Given the description of an element on the screen output the (x, y) to click on. 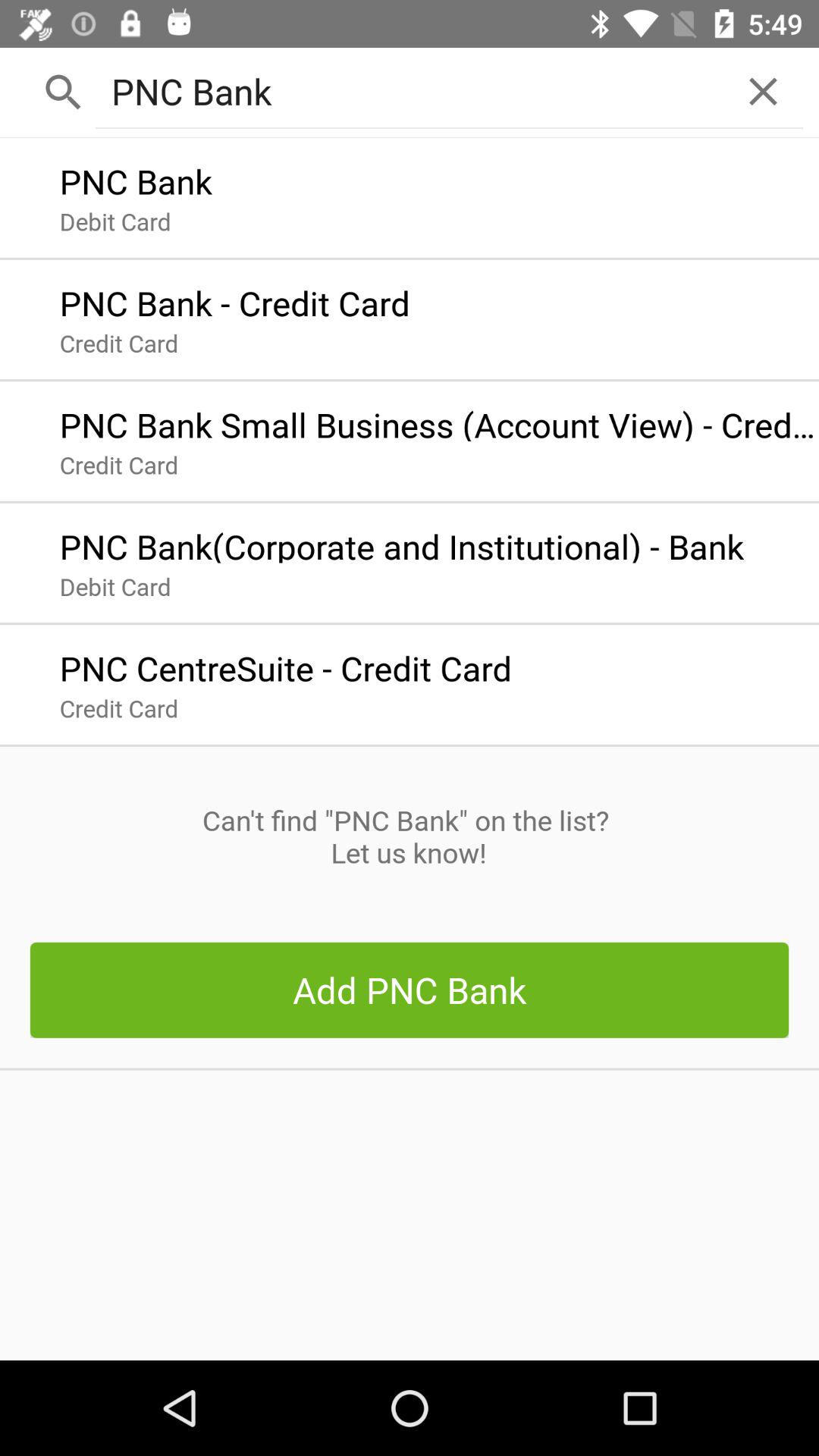
turn on icon above the add pnc bank (408, 836)
